Given the description of an element on the screen output the (x, y) to click on. 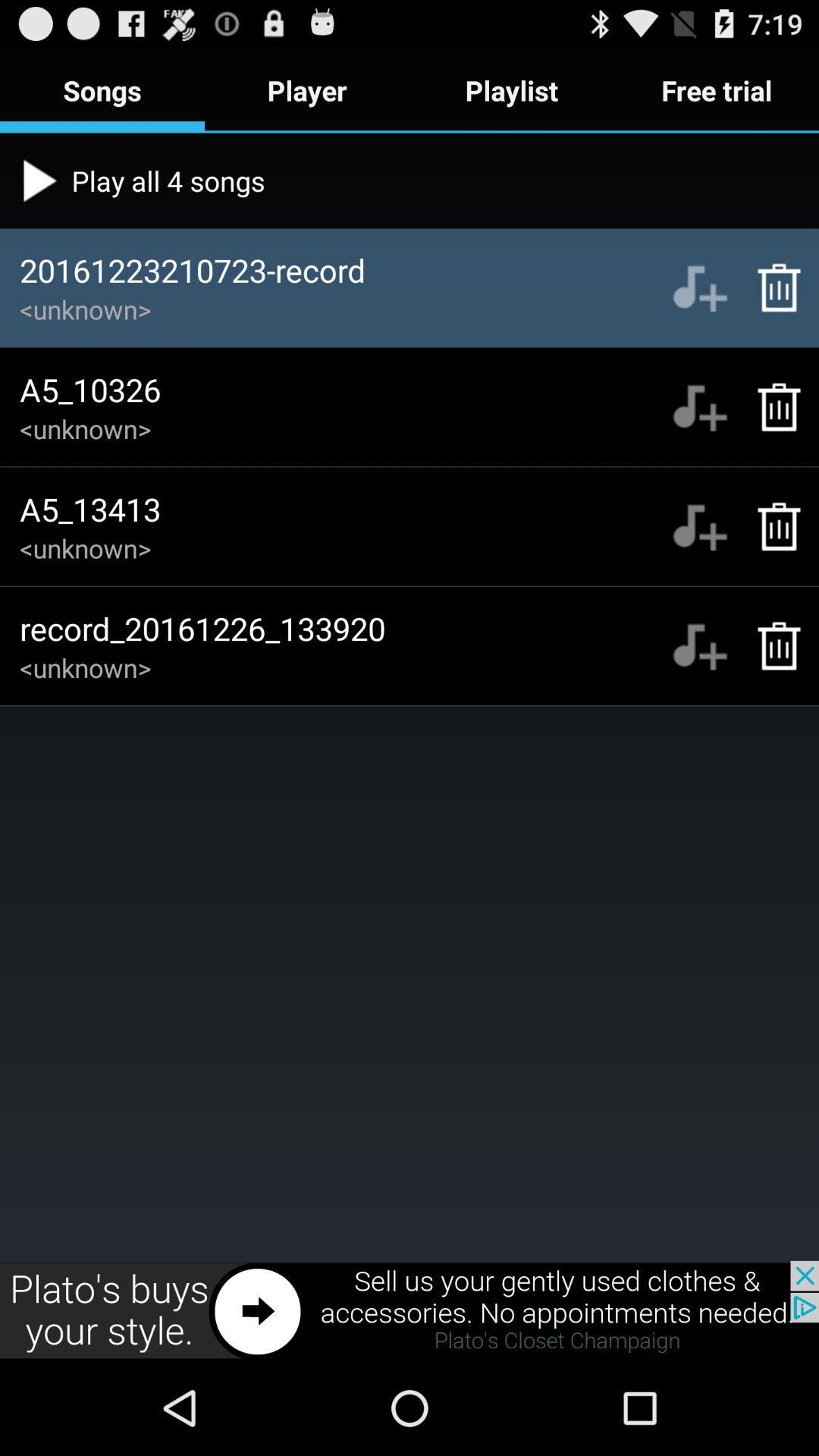
delete the song (771, 287)
